Given the description of an element on the screen output the (x, y) to click on. 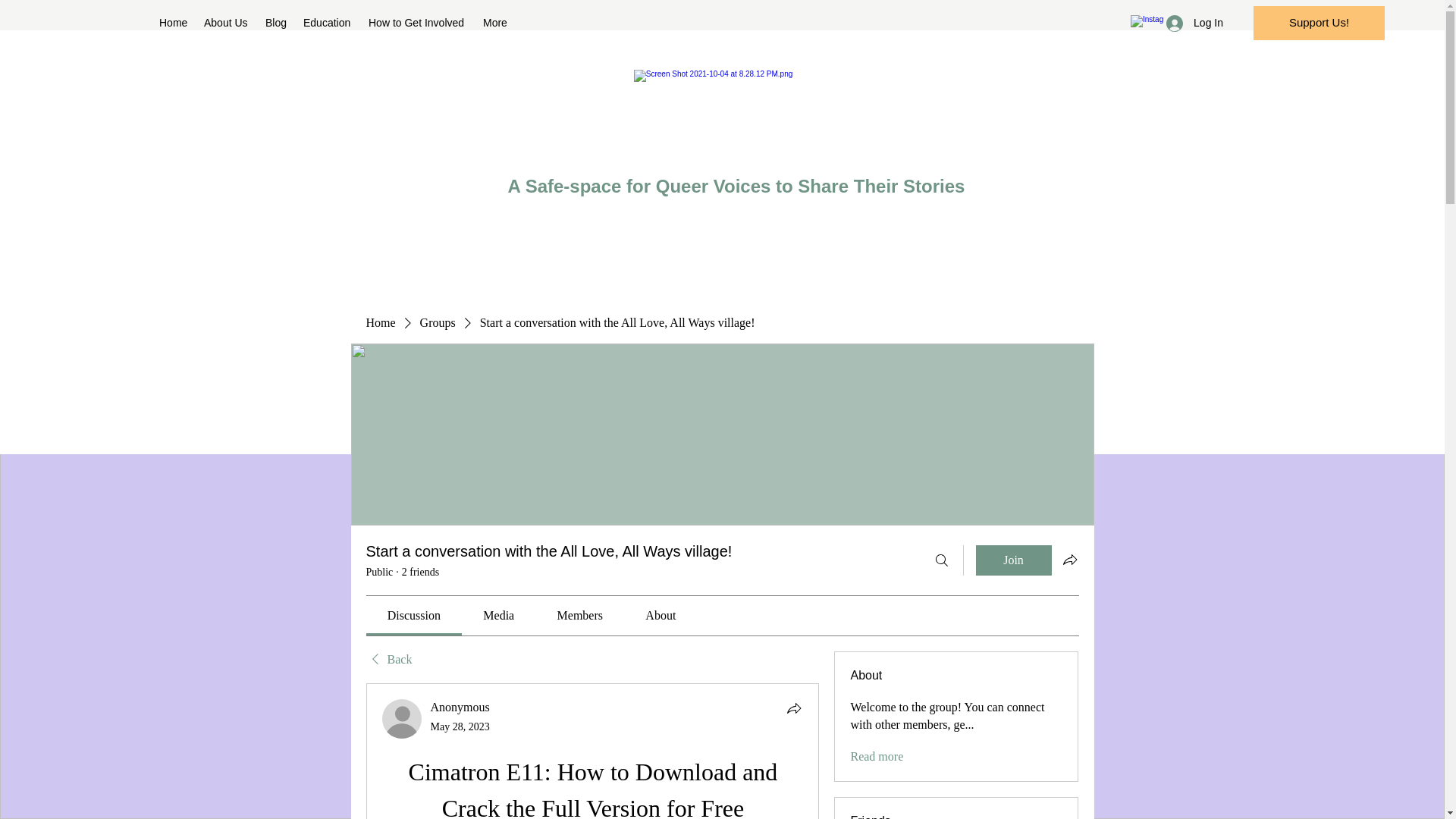
About Us (226, 22)
How to Get Involved (418, 22)
Anonymous (459, 707)
Read more (876, 756)
Back (388, 659)
Join (1013, 560)
Support Us! (1318, 22)
Groups (437, 322)
Home (173, 22)
May 28, 2023 (459, 726)
Education (328, 22)
Home (379, 322)
Log In (1194, 22)
